Given the description of an element on the screen output the (x, y) to click on. 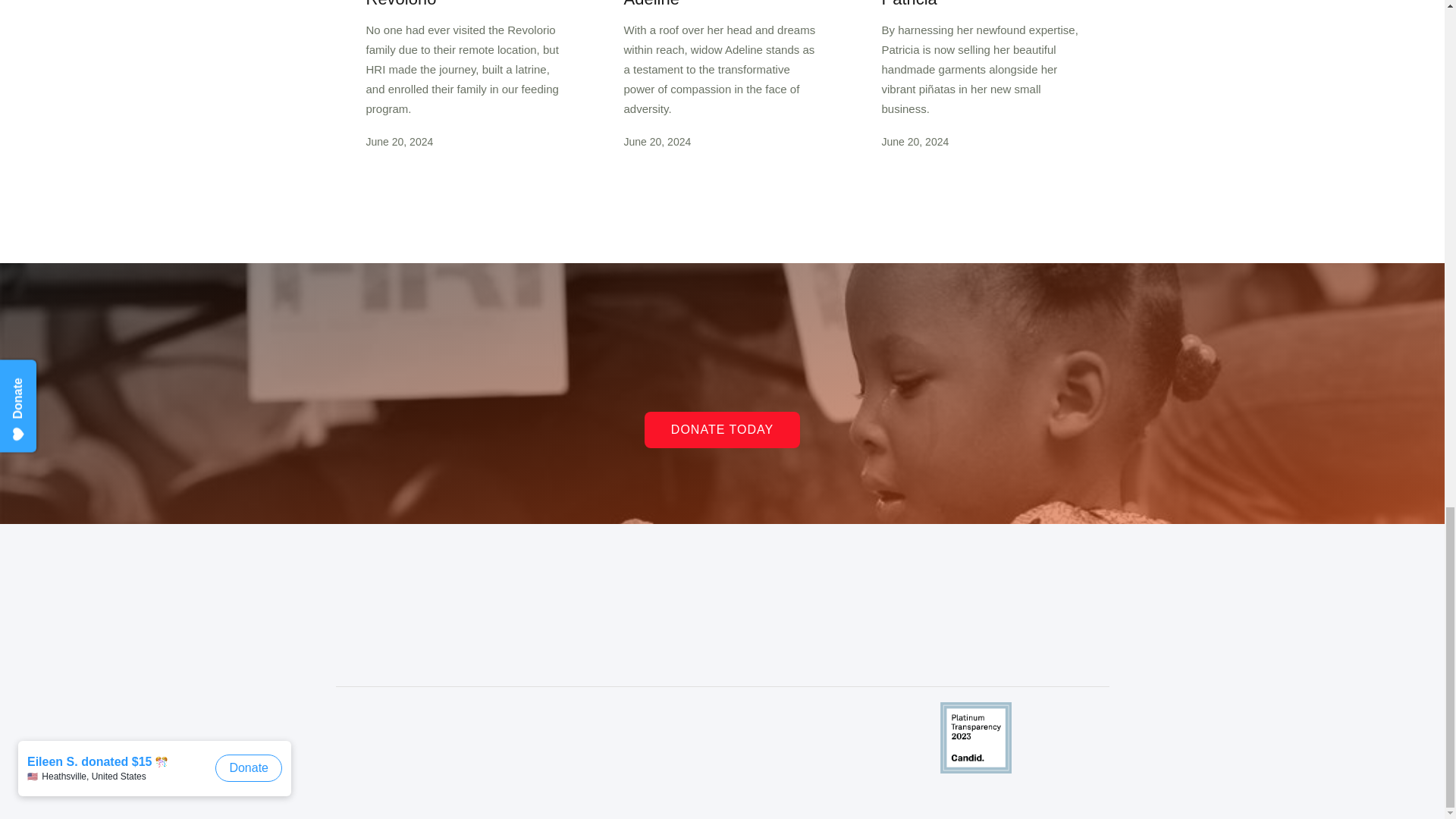
June 20, 2024 (979, 141)
Patricia (979, 4)
Adeline (722, 4)
June 20, 2024 (463, 141)
Revolorio (463, 4)
June 20, 2024 (722, 141)
